Given the description of an element on the screen output the (x, y) to click on. 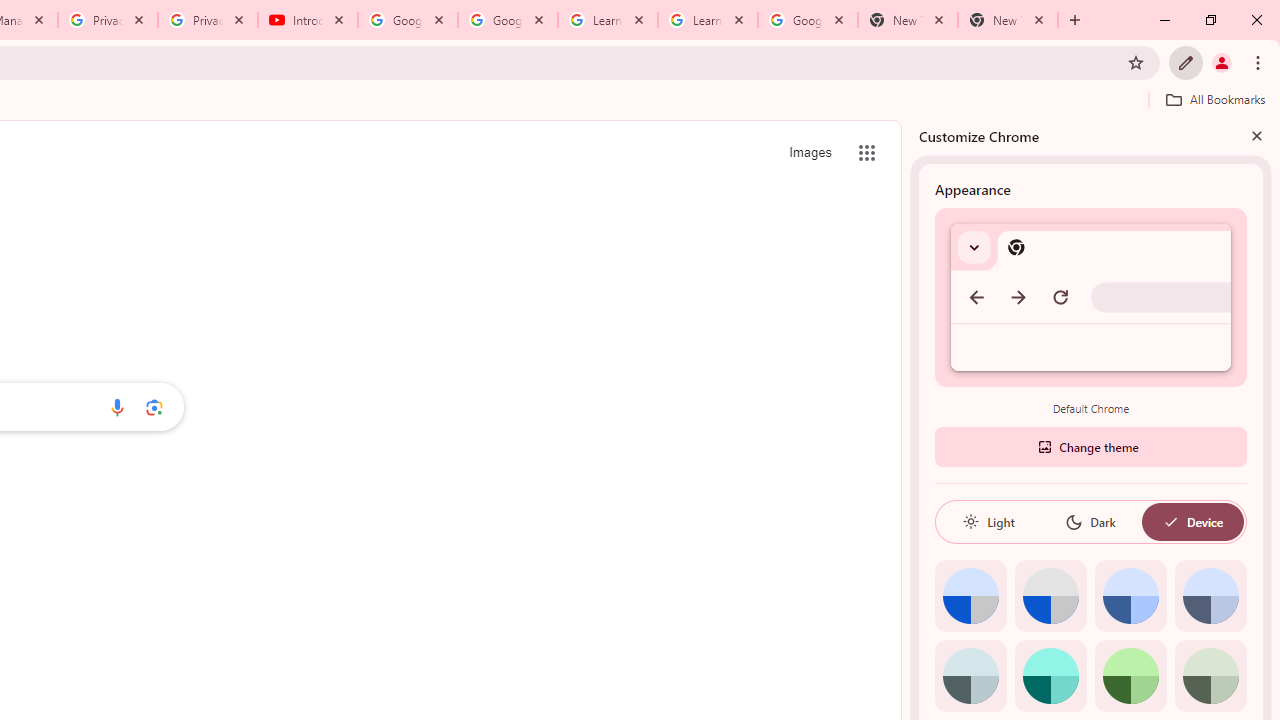
Green (1130, 676)
Grey (970, 676)
Change theme (1090, 446)
Google Account Help (408, 20)
Google Account Help (508, 20)
All Bookmarks (1215, 99)
Google Account (807, 20)
Dark (1090, 521)
Search by image (153, 407)
Default Chrome (1091, 296)
Search by voice (116, 407)
